Given the description of an element on the screen output the (x, y) to click on. 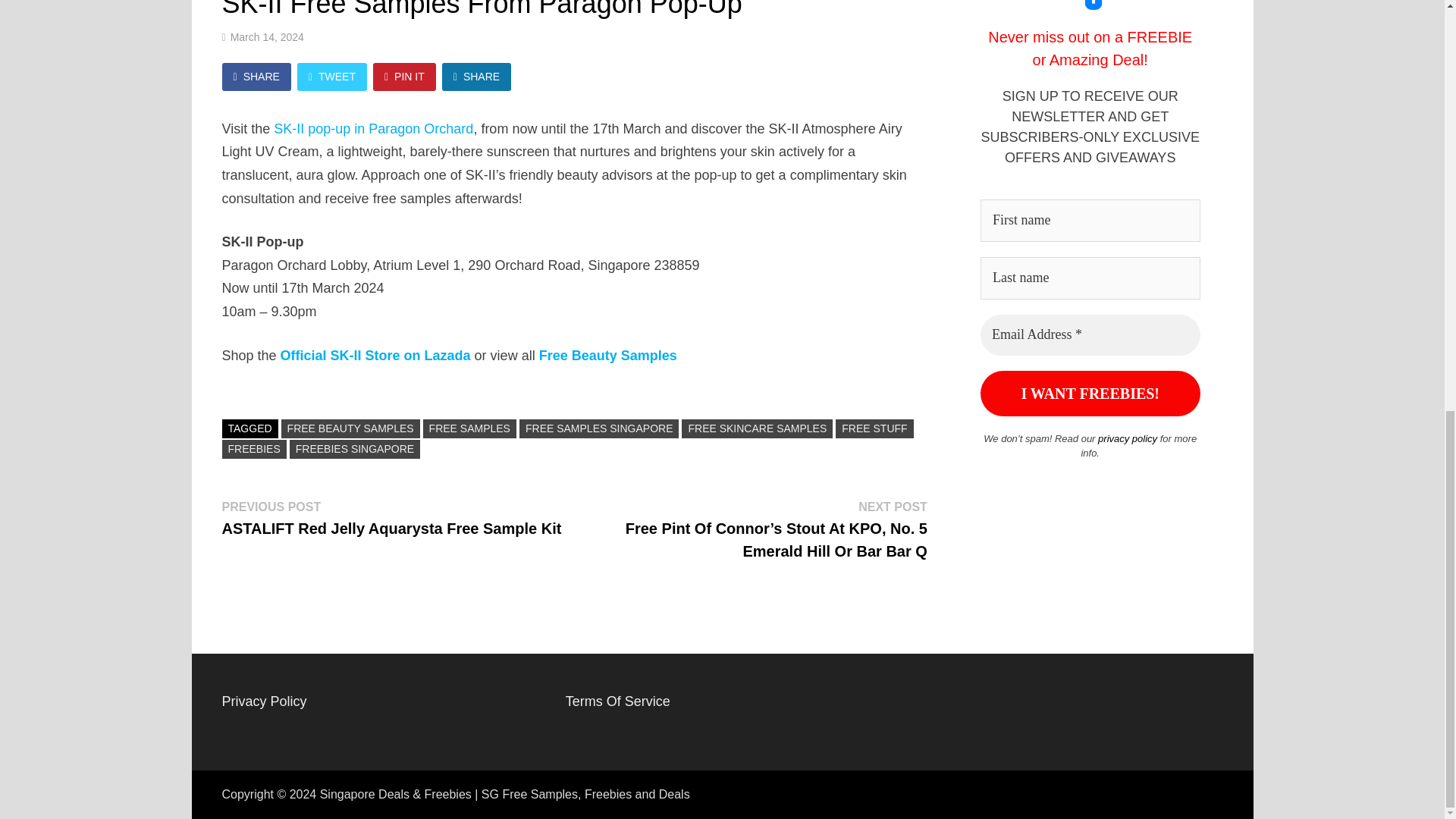
Email Address (1089, 334)
Last name (1089, 278)
I Want Freebies! (1089, 393)
First name (1089, 220)
